Given the description of an element on the screen output the (x, y) to click on. 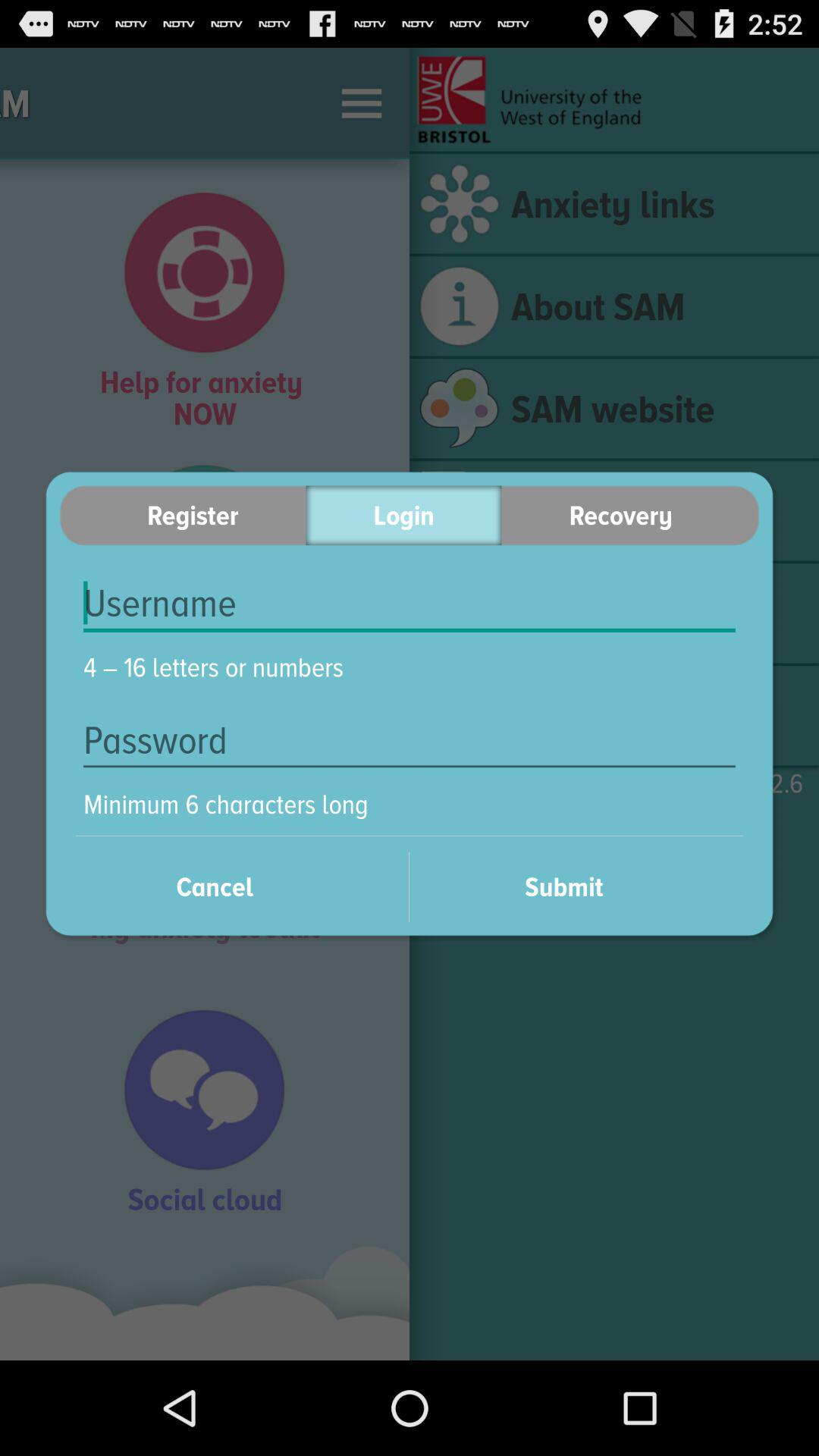
open the item to the left of the login icon (182, 515)
